Given the description of an element on the screen output the (x, y) to click on. 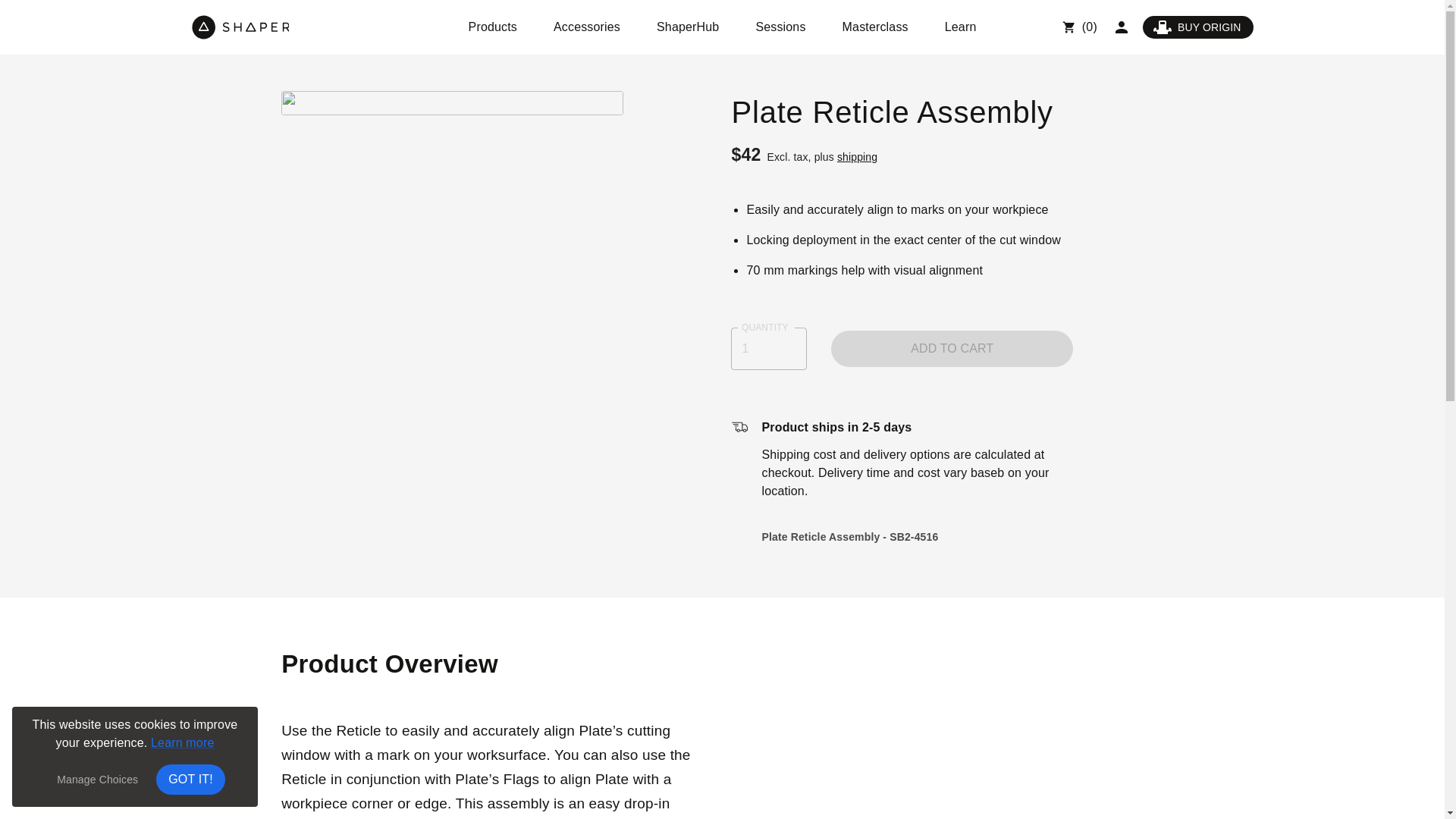
ShaperHub (687, 27)
Masterclass (875, 27)
Learn (960, 27)
Sessions (780, 27)
Products (492, 27)
BUY ORIGIN (1197, 26)
Accessories (587, 27)
1 (768, 348)
